Given the description of an element on the screen output the (x, y) to click on. 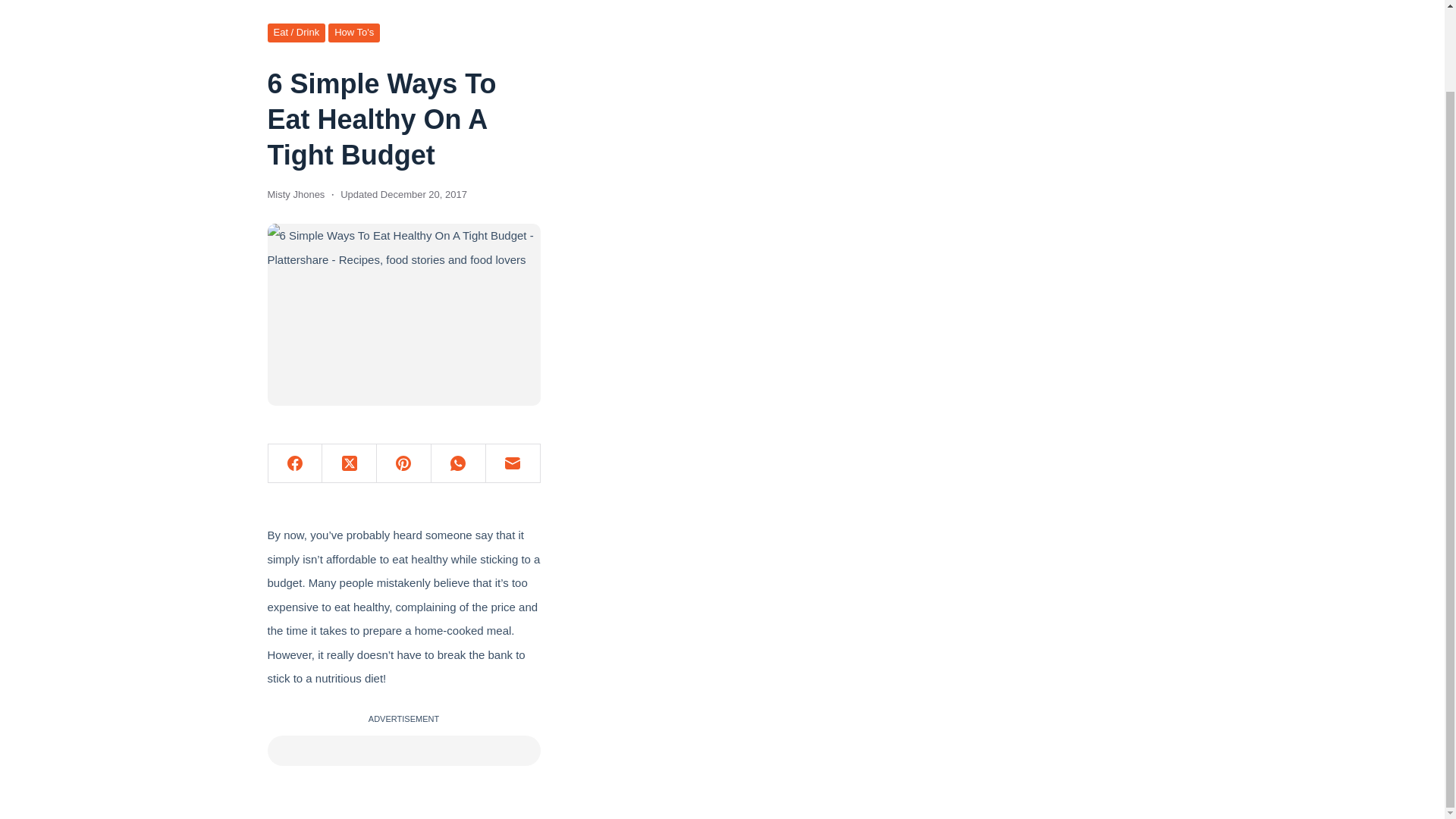
How To'S (354, 32)
Misty Jhones (295, 194)
Posts by Misty Jhones (295, 194)
6 Simple Ways To Eat Healthy On A Tight Budget (403, 119)
